Given the description of an element on the screen output the (x, y) to click on. 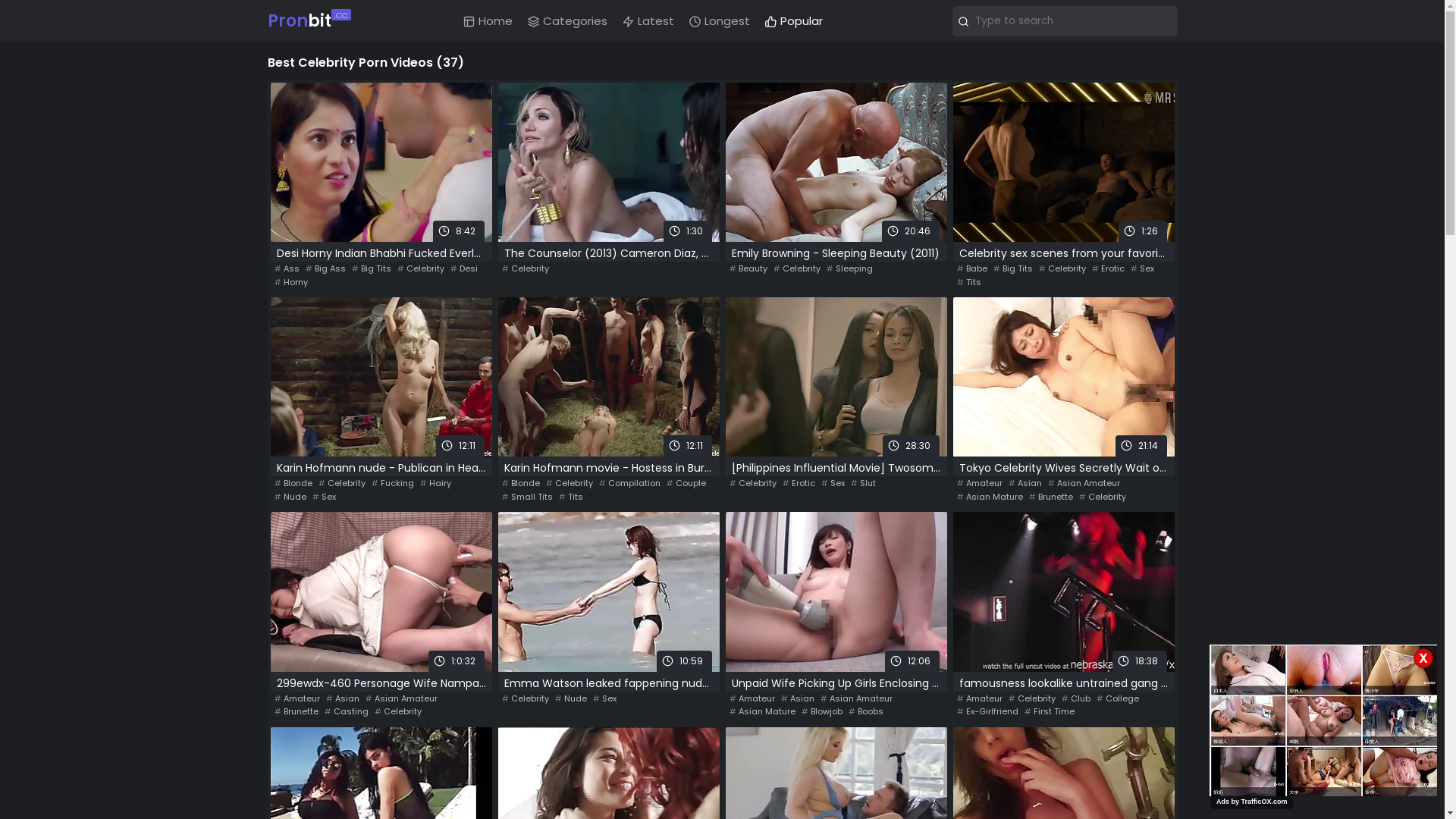
Asian Mature Element type: text (762, 711)
1:0:32 Element type: text (380, 591)
Emily Browning - Sleeping Beauty (2011) Element type: text (835, 254)
Celebrity Element type: text (796, 268)
Categories Element type: text (567, 20)
Karin Hofmann movie - Hostess in Burning desire Element type: text (607, 469)
Asian Amateur Element type: text (401, 698)
Celebrity Element type: text (525, 268)
Ass Element type: text (286, 268)
Home Element type: text (487, 20)
Nude Element type: text (570, 698)
Desi Horny Indian Bhabhi Fucked Everlasting Element type: text (380, 254)
Celebrity Element type: text (569, 483)
Emma Watson leaked fappening nudes Element type: text (607, 684)
Erotic Element type: text (798, 483)
Tits Element type: text (570, 496)
Babe Element type: text (972, 268)
Longest Element type: text (719, 20)
Celebrity Element type: text (1031, 698)
Celebrity Element type: text (1101, 496)
Amateur Element type: text (979, 483)
Celebrity Element type: text (341, 483)
First Time Element type: text (1048, 711)
Asian Amateur Element type: text (856, 698)
20:46 Element type: text (835, 161)
Compilation Element type: text (629, 483)
Blonde Element type: text (293, 483)
Sex Element type: text (323, 496)
Celebrity Element type: text (397, 711)
Fucking Element type: text (392, 483)
Asian Element type: text (342, 698)
Karin Hofmann nude - Publican in Heat (1973) Element type: text (380, 469)
Blowjob Element type: text (820, 711)
Brunette Element type: text (296, 711)
The Counselor (2013) Cameron Diaz, Penelope Cruz Element type: text (607, 254)
Hairy Element type: text (435, 483)
Big Tits Element type: text (1012, 268)
Asian Amateur Element type: text (1084, 483)
Search X Videos Element type: hover (1064, 21)
Celebrity Element type: text (525, 698)
Club Element type: text (1075, 698)
Asian Mature Element type: text (989, 496)
18:38 Element type: text (1062, 591)
1:30 Element type: text (607, 161)
Nude Element type: text (290, 496)
Amateur Element type: text (297, 698)
Slut Element type: text (862, 483)
Ex-Girlfriend Element type: text (987, 711)
Couple Element type: text (685, 483)
Sleeping Element type: text (849, 268)
Big Ass Element type: text (324, 268)
12:06 Element type: text (835, 591)
Sex Element type: text (1141, 268)
10:59 Element type: text (607, 591)
Small Tits Element type: text (527, 496)
Amateur Element type: text (752, 698)
Asian Element type: text (1024, 483)
Erotic Element type: text (1108, 268)
Celebrity Element type: text (1061, 268)
Celebrity Element type: text (420, 268)
Boobs Element type: text (864, 711)
Desi Element type: text (463, 268)
8:42 Element type: text (380, 161)
12:11 Element type: text (380, 376)
Celebrity sex scenes from your favorite TV string and movies Element type: text (1062, 254)
Casting Element type: text (346, 711)
1:26 Element type: text (1062, 161)
28:30 Element type: text (835, 376)
College Element type: text (1117, 698)
Latest Element type: text (648, 20)
Amateur Element type: text (979, 698)
Sex Element type: text (604, 698)
Brunette Element type: text (1050, 496)
12:11 Element type: text (607, 376)
Big Tits Element type: text (371, 268)
Popular Element type: text (793, 20)
Celebrity Element type: text (752, 483)
Pronbit
.cc Element type: text (305, 20)
21:14 Element type: text (1062, 376)
Beauty Element type: text (748, 268)
Horny Element type: text (290, 282)
Blonde Element type: text (520, 483)
Tits Element type: text (969, 282)
Sex Element type: text (832, 483)
Asian Element type: text (797, 698)
Ads by TrafficOX.com Element type: text (1251, 801)
